Given the description of an element on the screen output the (x, y) to click on. 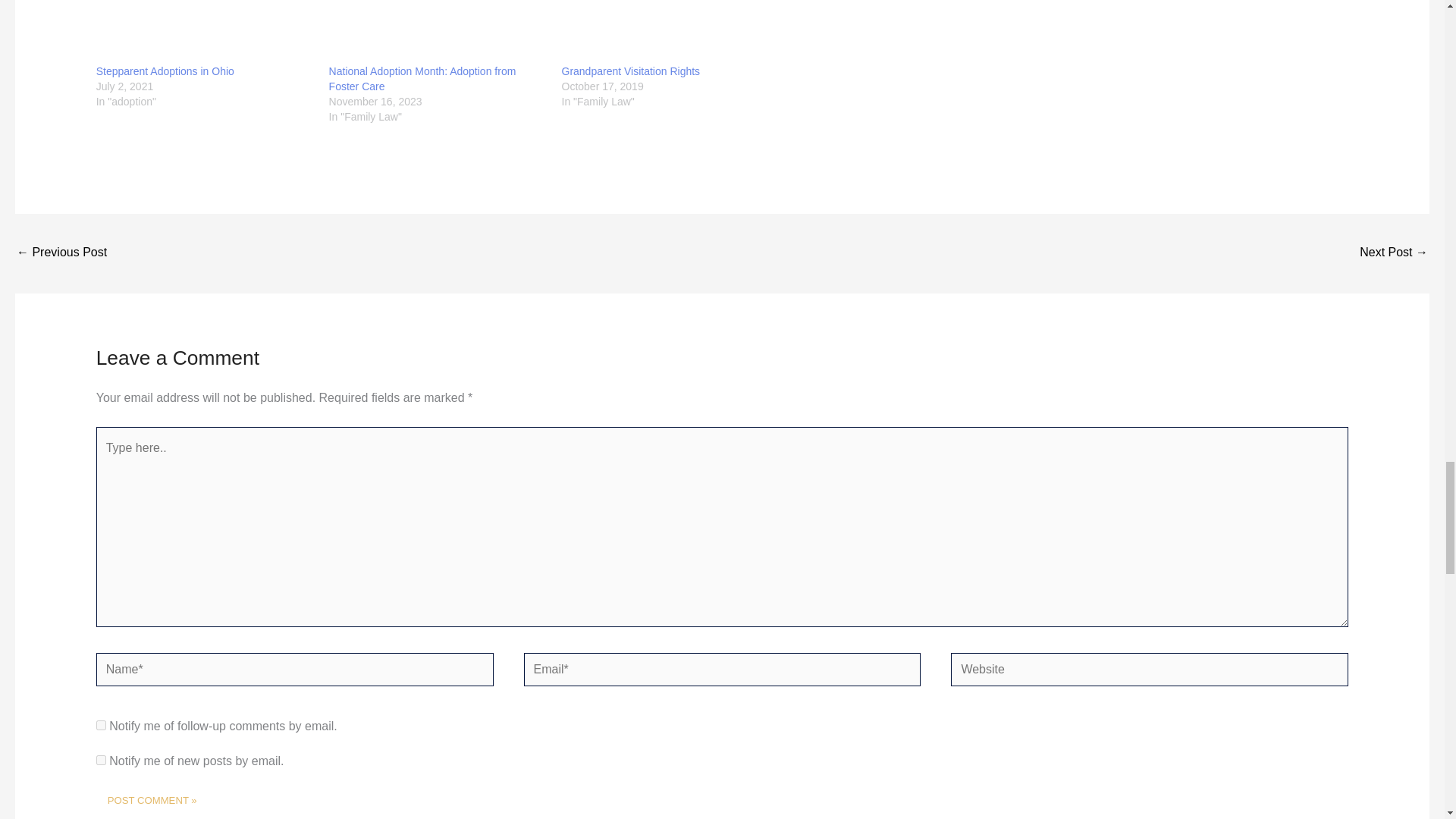
Grandparent Visitation Rights (669, 31)
subscribe (101, 725)
National Adoption Month: Adoption from Foster Care (438, 31)
The Jury: Part 2 (61, 253)
National Adoption Month: Adoption from Foster Care (422, 78)
Grandparent Visitation Rights (630, 70)
Stepparent Adoptions in Ohio (205, 31)
Grandparent Visitation Rights (630, 70)
subscribe (101, 759)
Stepparent Adoptions in Ohio (165, 70)
National Adoption Month: Adoption from Foster Care (422, 78)
Stepparent Adoptions in Ohio (165, 70)
